Given the description of an element on the screen output the (x, y) to click on. 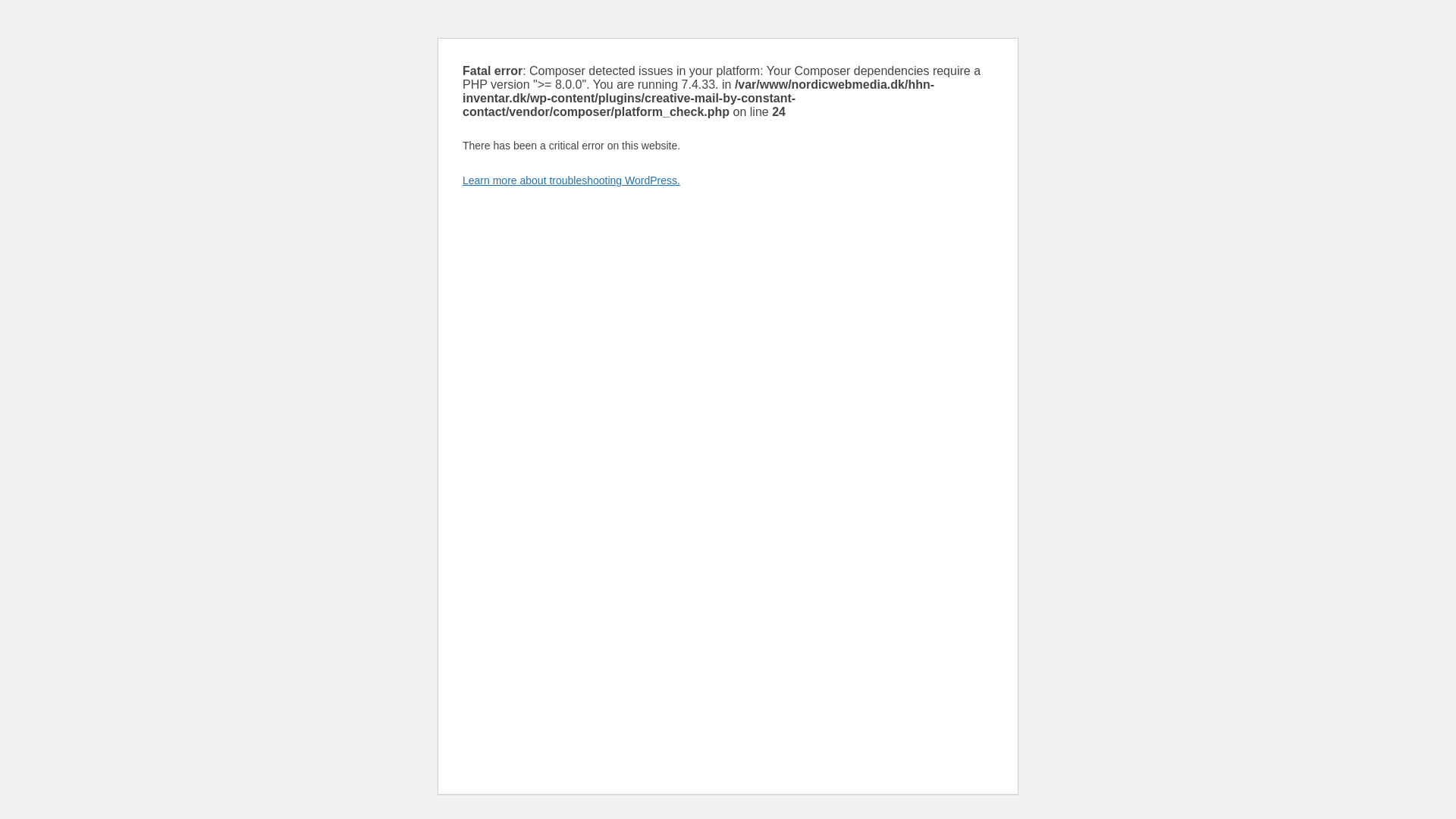
Learn more about troubleshooting WordPress. (571, 180)
